Given the description of an element on the screen output the (x, y) to click on. 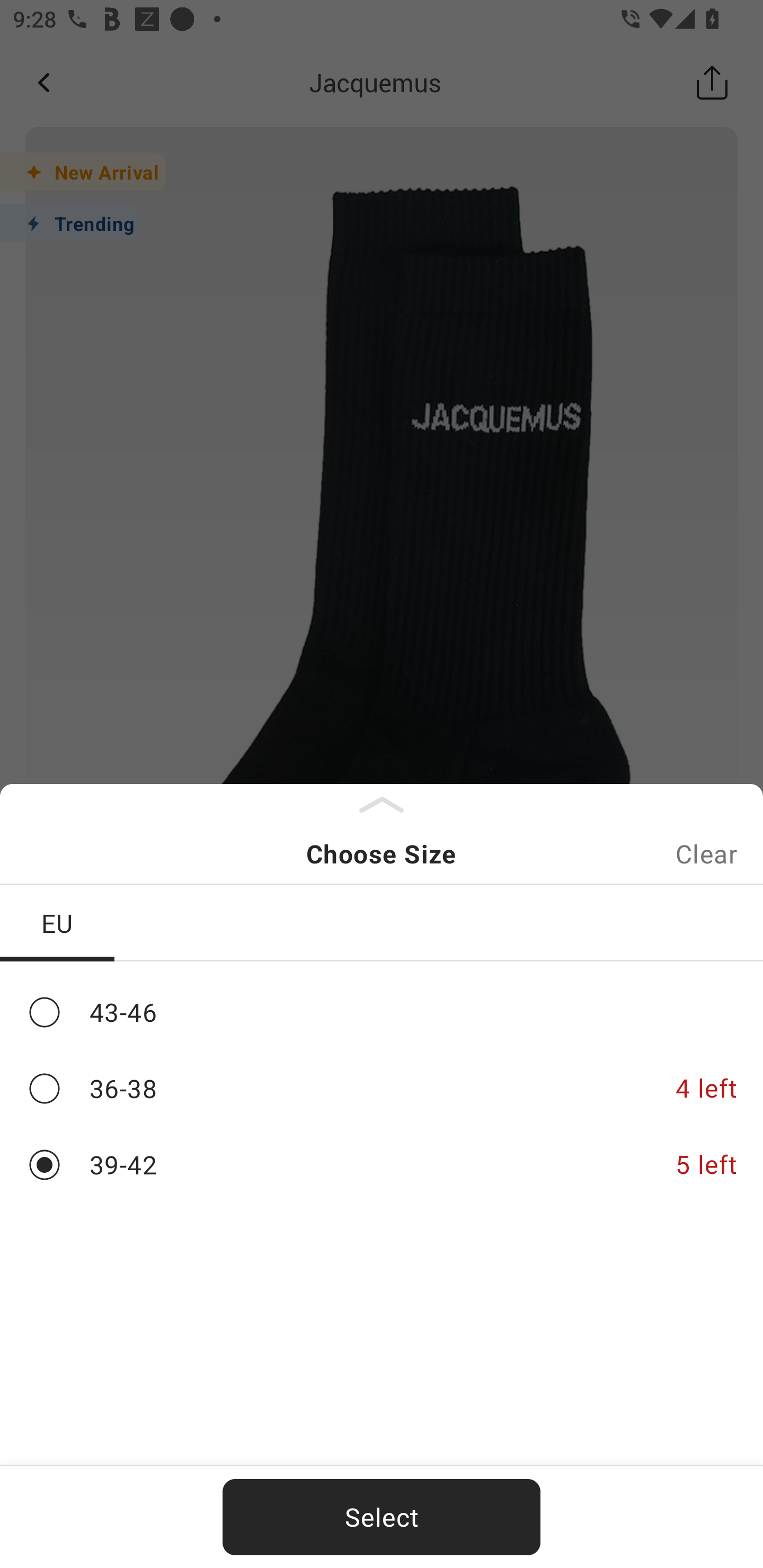
Clear (706, 852)
43-46 (381, 1011)
36-38 4 left (381, 1088)
39-42 5 left (381, 1164)
Select (381, 1516)
